Given the description of an element on the screen output the (x, y) to click on. 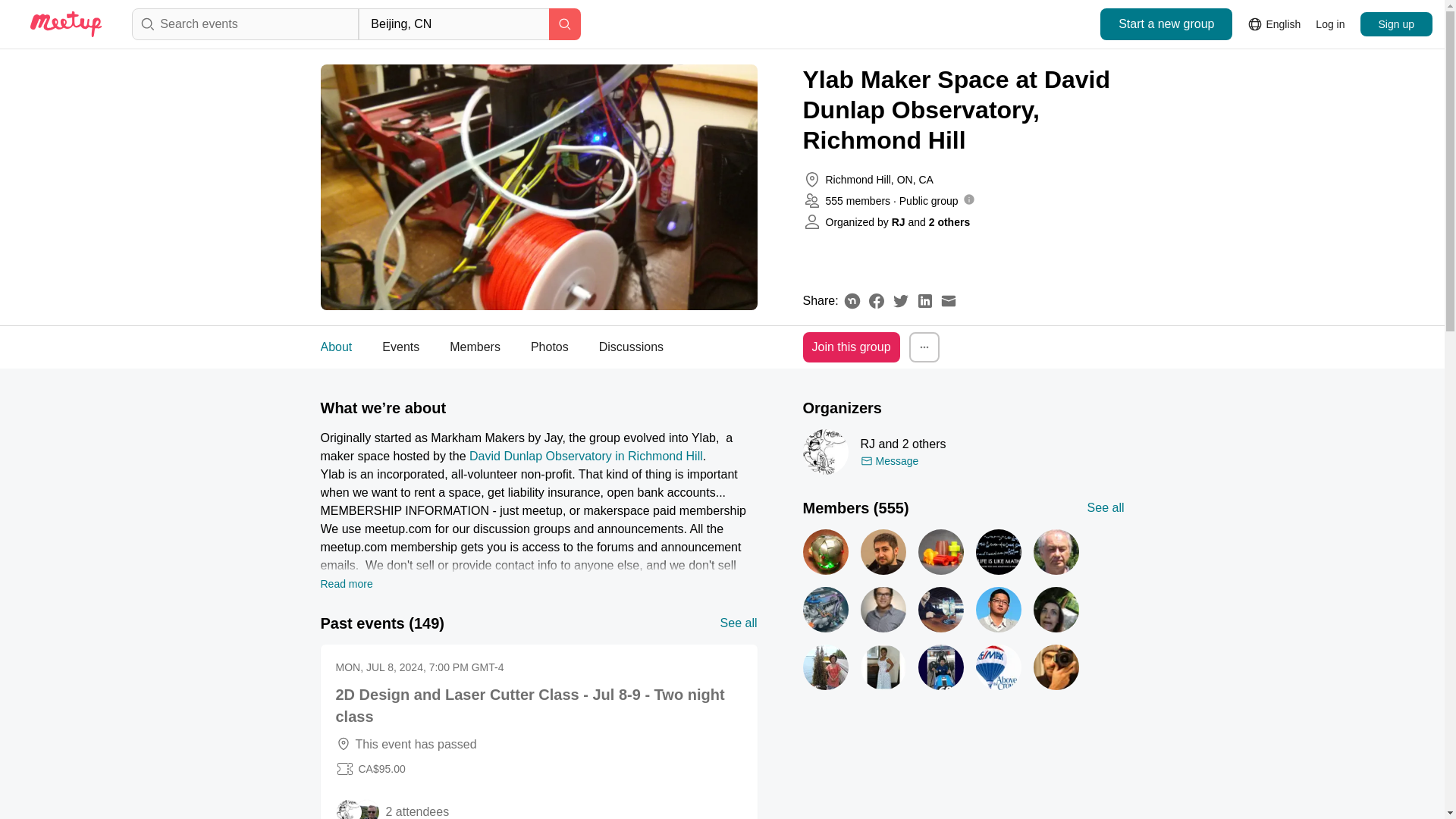
Nextdoor (852, 300)
See group members (963, 612)
Ylab Maker Space at David Dunlap Observatory, Richmond Hill (963, 109)
Photos (550, 347)
LinkedIn (924, 300)
Events (556, 347)
Sign up (400, 347)
Read more (1395, 24)
David Dunlap Observatory in Richmond Hill (346, 583)
